Given the description of an element on the screen output the (x, y) to click on. 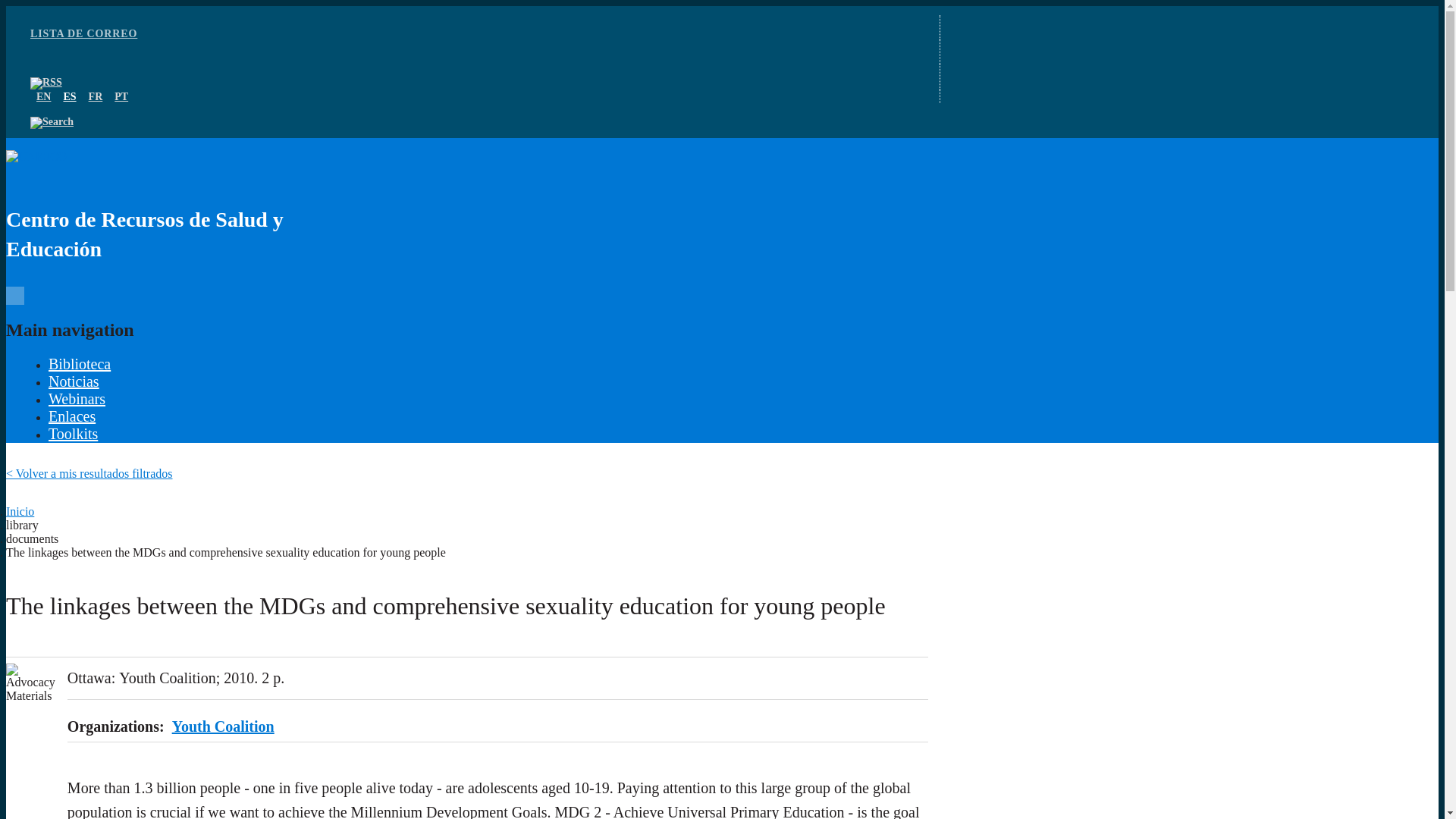
FR (95, 96)
Noticias (73, 381)
ES (68, 96)
LISTA DE CORREO (83, 33)
Inicio (19, 511)
Biblioteca (79, 363)
EN (43, 96)
Toolkits (72, 433)
Youth Coalition (223, 726)
Webinars (76, 398)
